Given the description of an element on the screen output the (x, y) to click on. 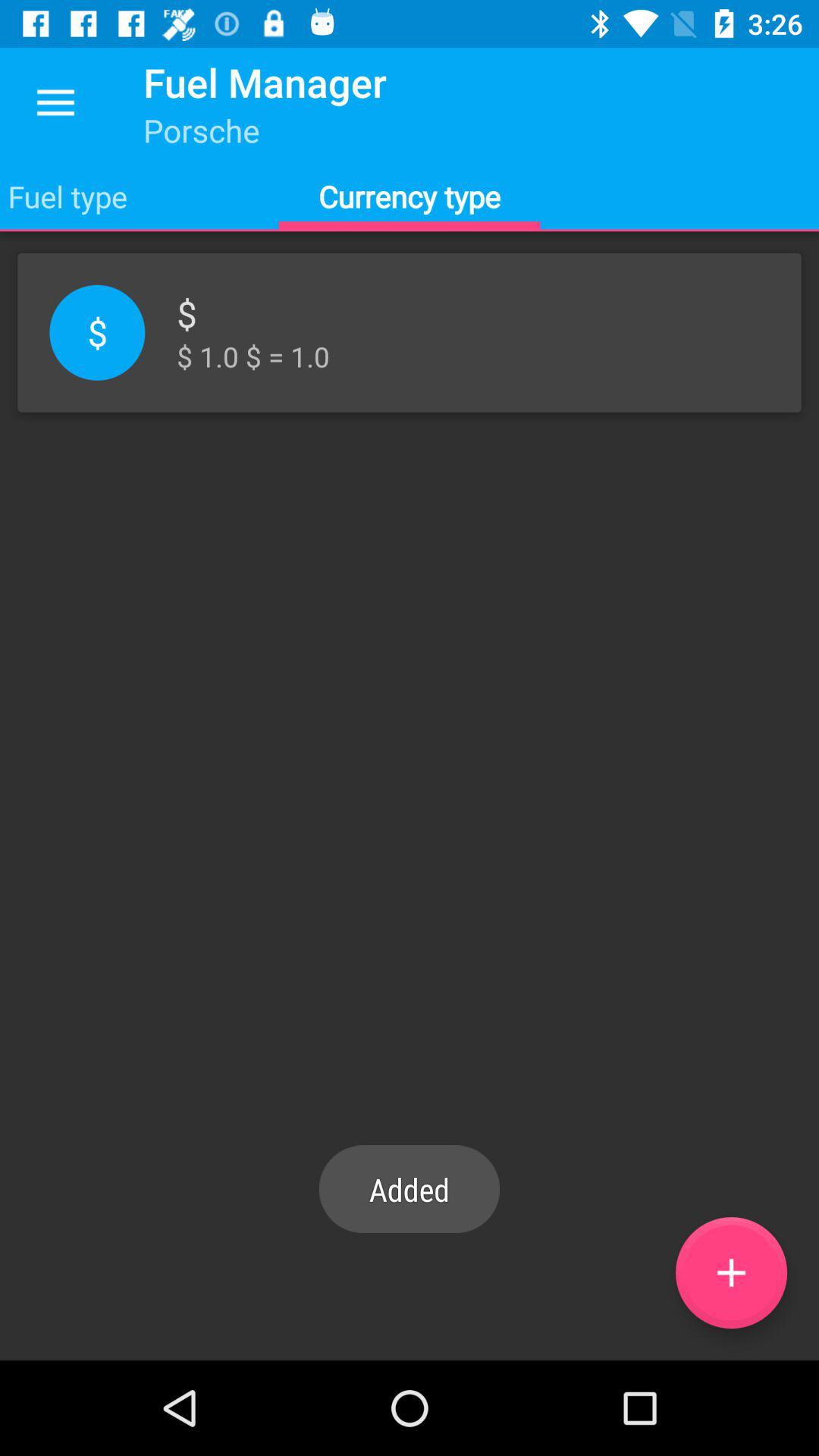
add currency (731, 1272)
